Given the description of an element on the screen output the (x, y) to click on. 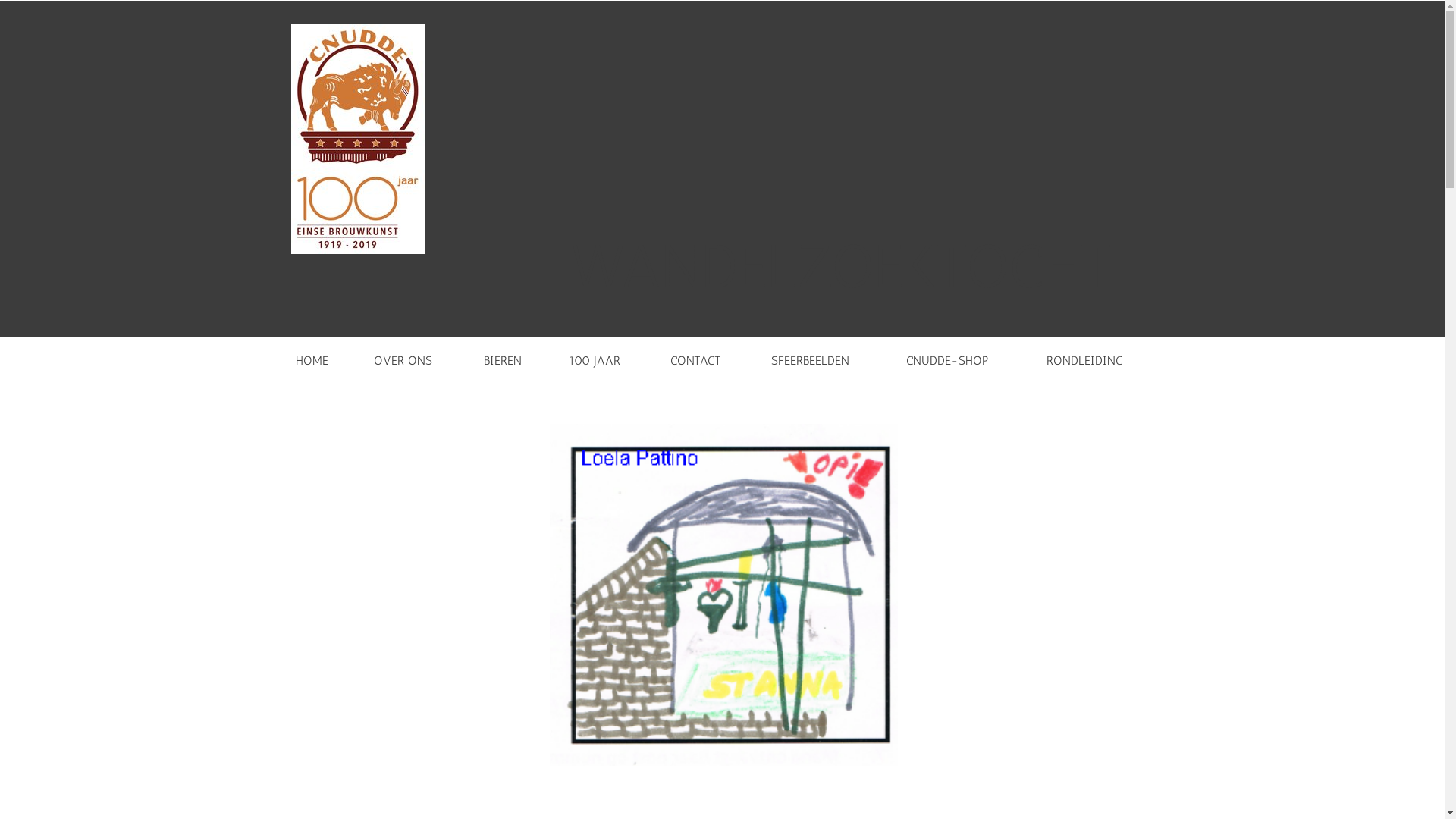
SFEERBEELDEN Element type: text (823, 356)
RONDLEIDING Element type: text (1097, 356)
BIEREN Element type: text (510, 356)
OVER ONS Element type: text (413, 356)
100 JAAR Element type: text (604, 356)
CONTACT Element type: text (705, 356)
CNUDDE-SHOP Element type: text (961, 356)
loele Element type: hover (723, 594)
HOME Element type: text (319, 356)
Brouwerij Cnudde |Eine Oudenaarde Element type: hover (357, 139)
